Given the description of an element on the screen output the (x, y) to click on. 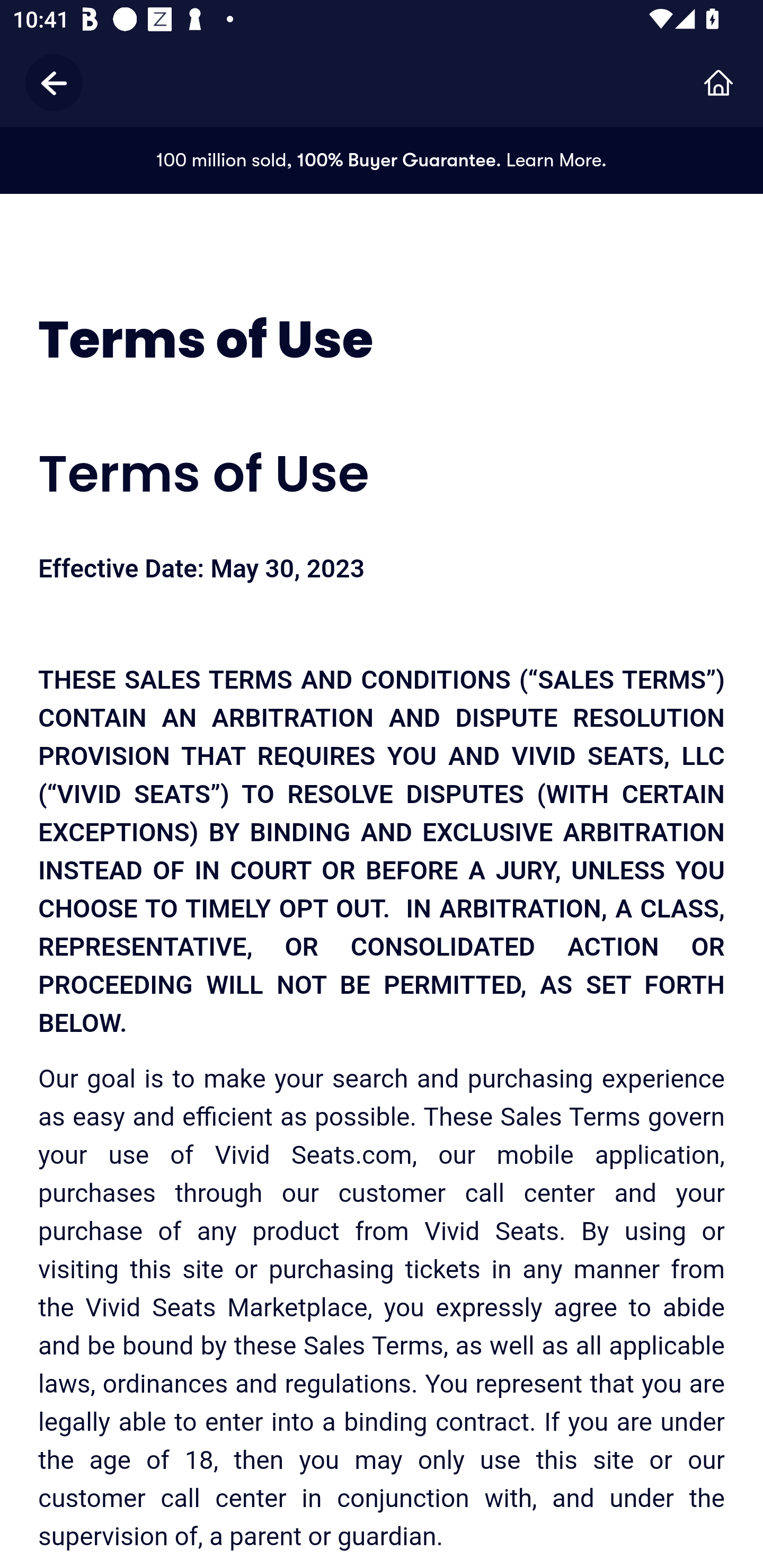
100% Buyer Guarantee (395, 159)
